Given the description of an element on the screen output the (x, y) to click on. 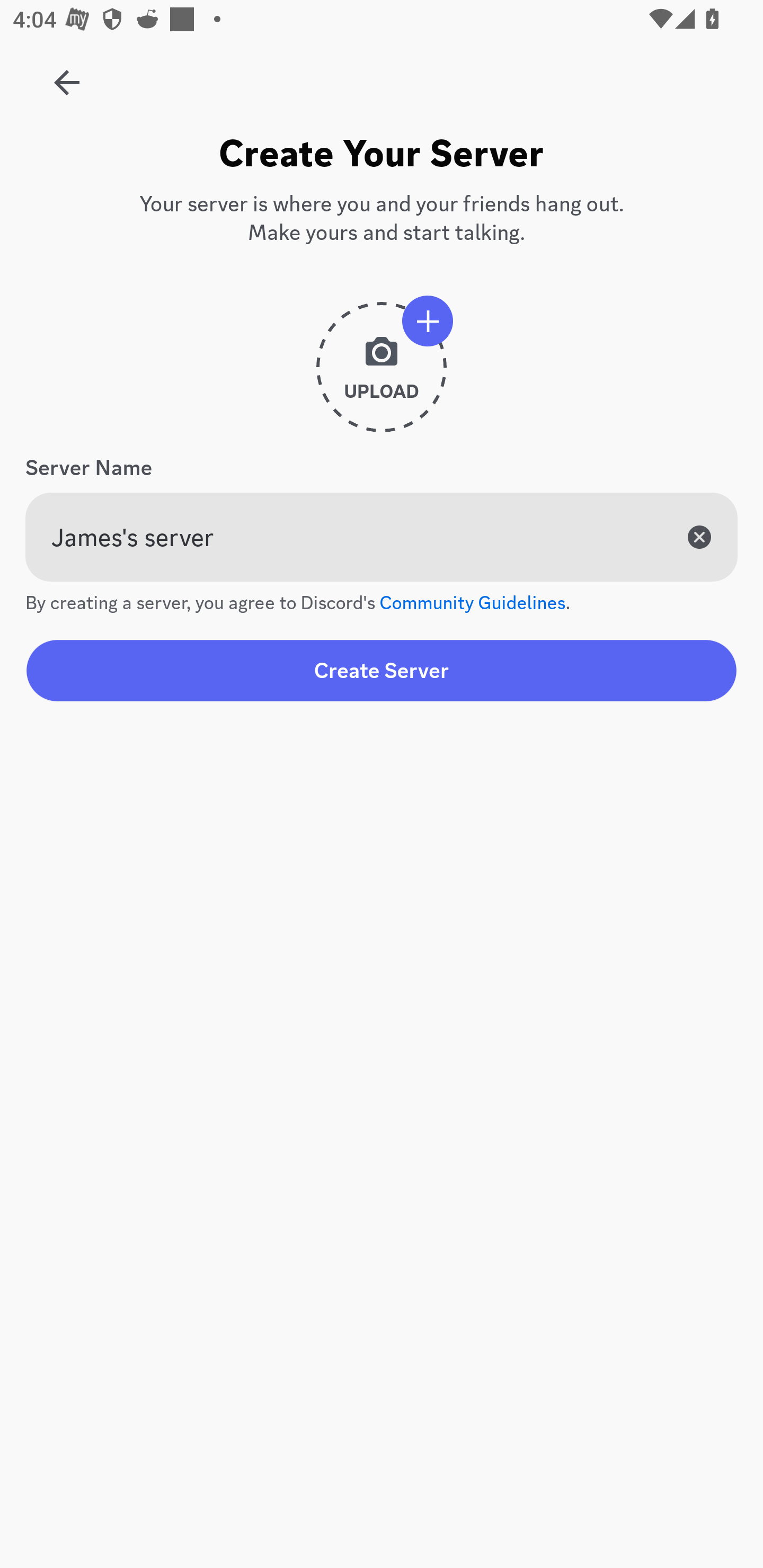
  Study Group Sunday 5PM SGS5 (66, 75)
Search (373, 165)
Upload Image UPLOAD (381, 373)
James's server (381, 536)
Clear (698, 536)
Create Server (381, 670)
